Given the description of an element on the screen output the (x, y) to click on. 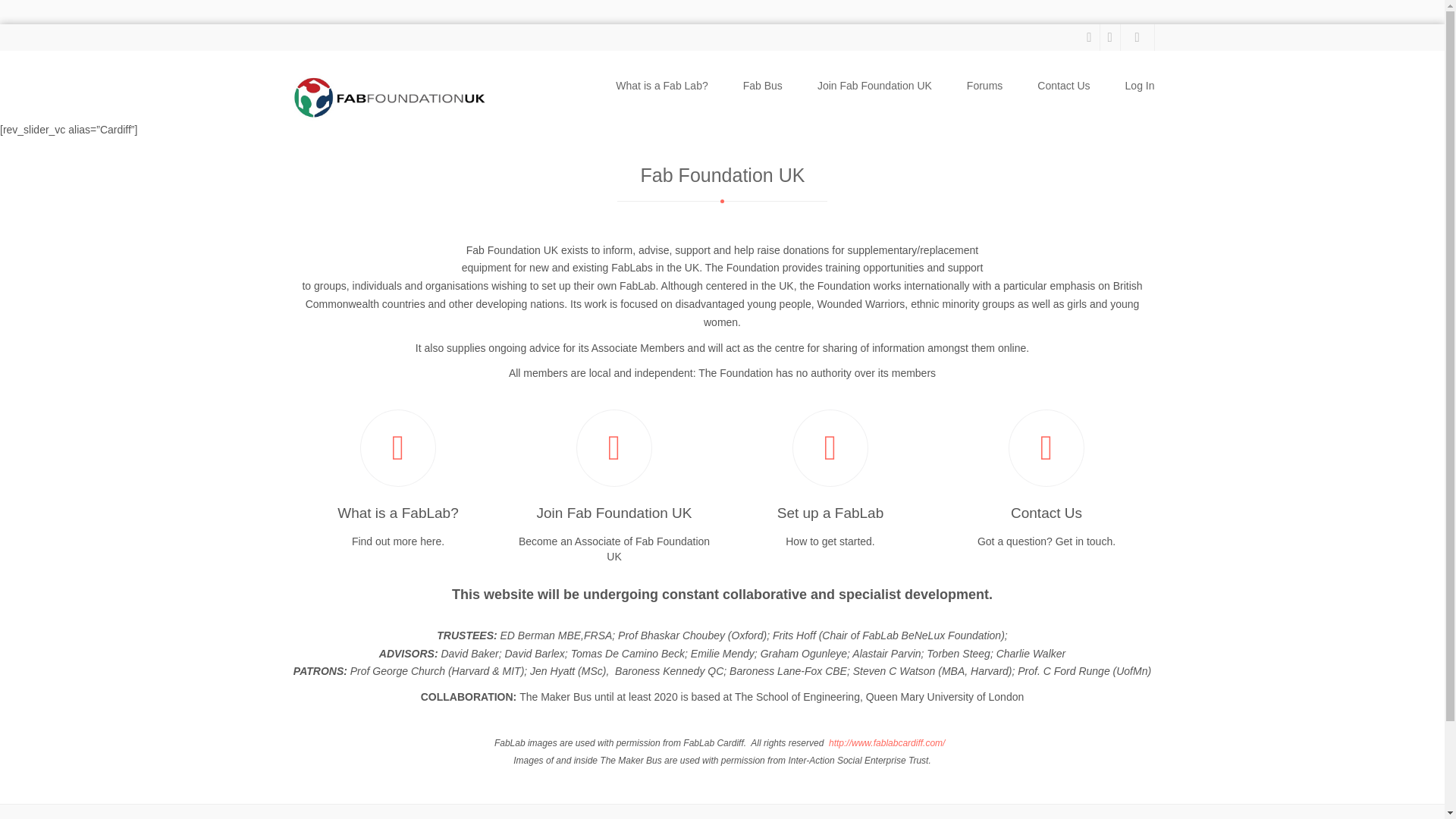
What is a Fab Lab? (661, 86)
Contact Us (1063, 86)
Join Fab Foundation UK (874, 86)
Fab Bus (762, 86)
Forums (984, 86)
